Given the description of an element on the screen output the (x, y) to click on. 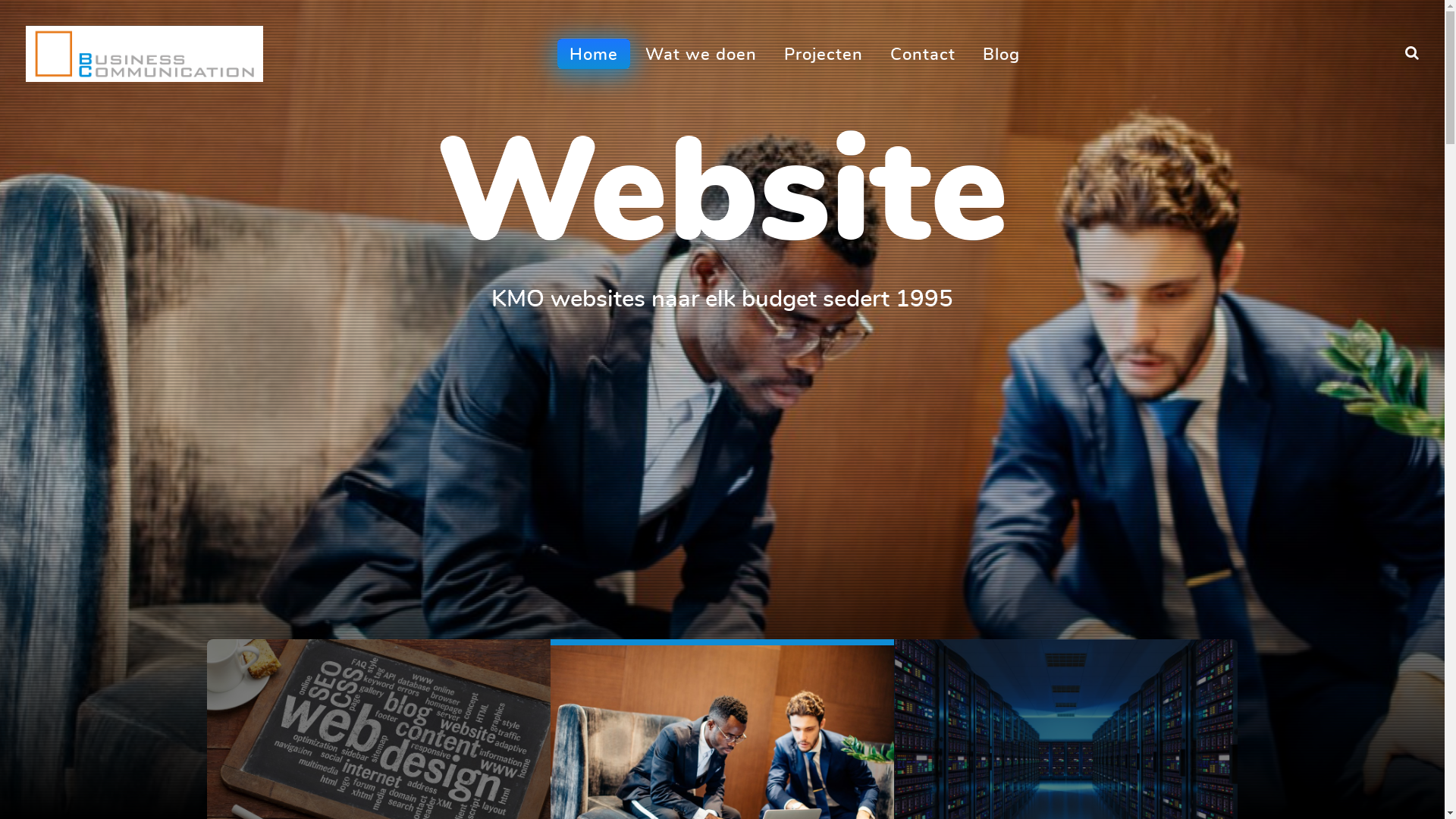
Contact Element type: text (922, 53)
Business Communication Element type: hover (144, 49)
Home Element type: text (593, 53)
Blog Element type: text (1001, 53)
Search Form Element type: hover (1411, 53)
Wat we doen Element type: text (700, 53)
Projecten Element type: text (823, 53)
